Given the description of an element on the screen output the (x, y) to click on. 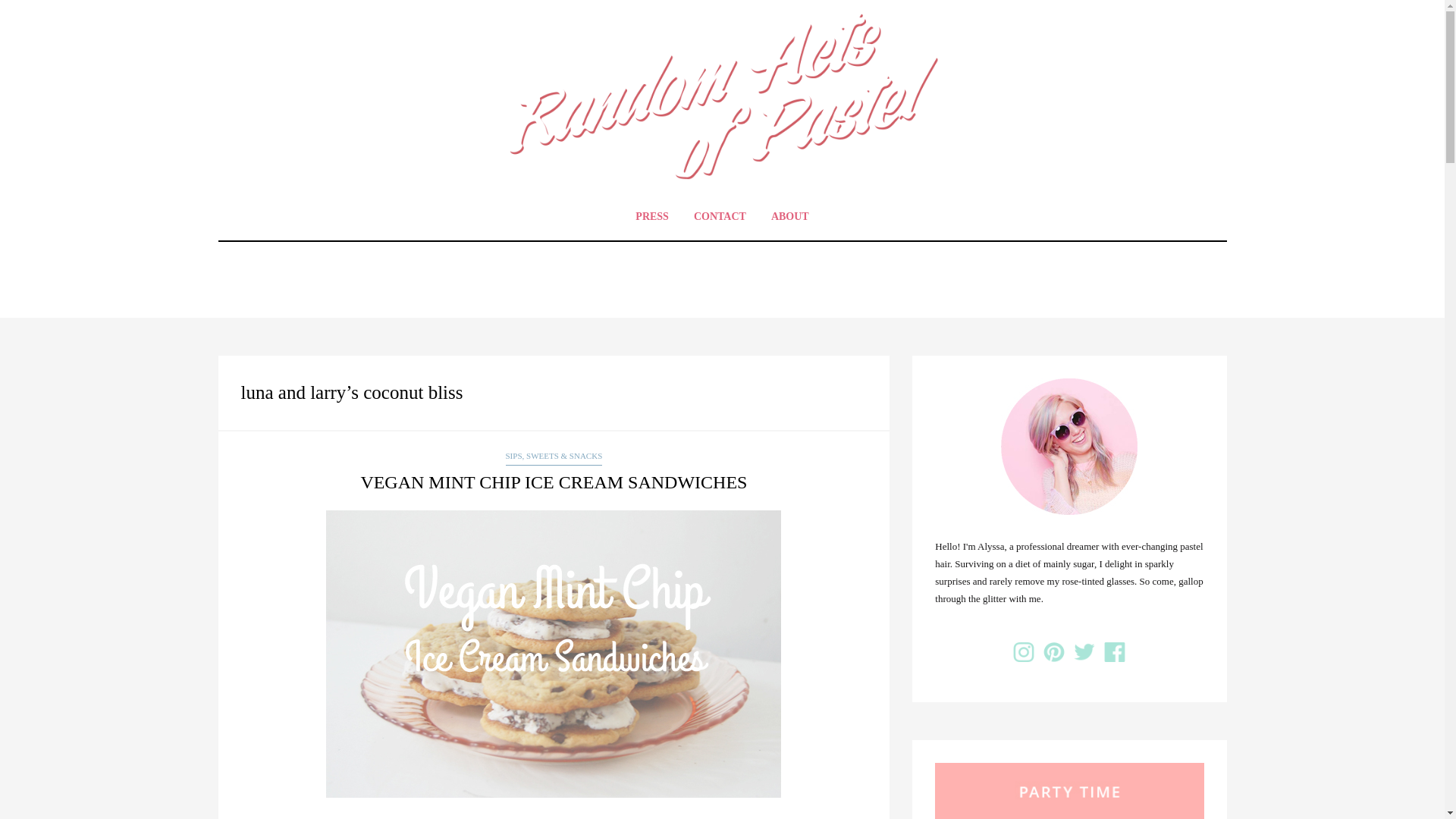
VEGAN MINT CHIP ICE CREAM SANDWICHES (552, 482)
PRESS (651, 216)
ABOUT (790, 216)
CONTACT (719, 216)
